Given the description of an element on the screen output the (x, y) to click on. 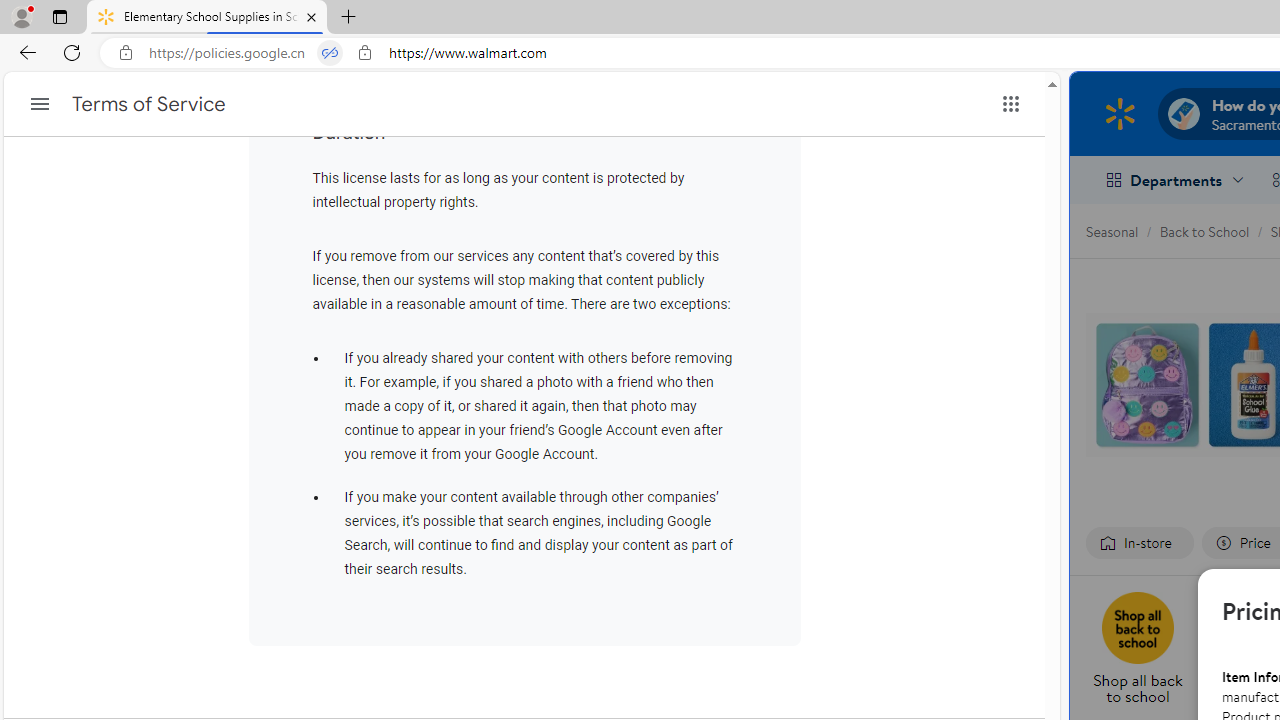
Tabs in split screen (330, 53)
